Given the description of an element on the screen output the (x, y) to click on. 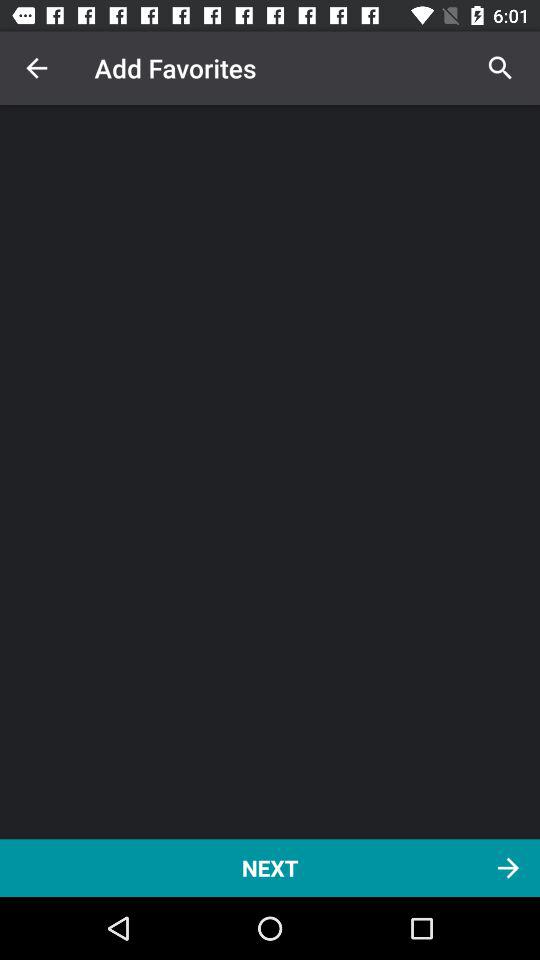
turn on icon above the next (500, 67)
